Given the description of an element on the screen output the (x, y) to click on. 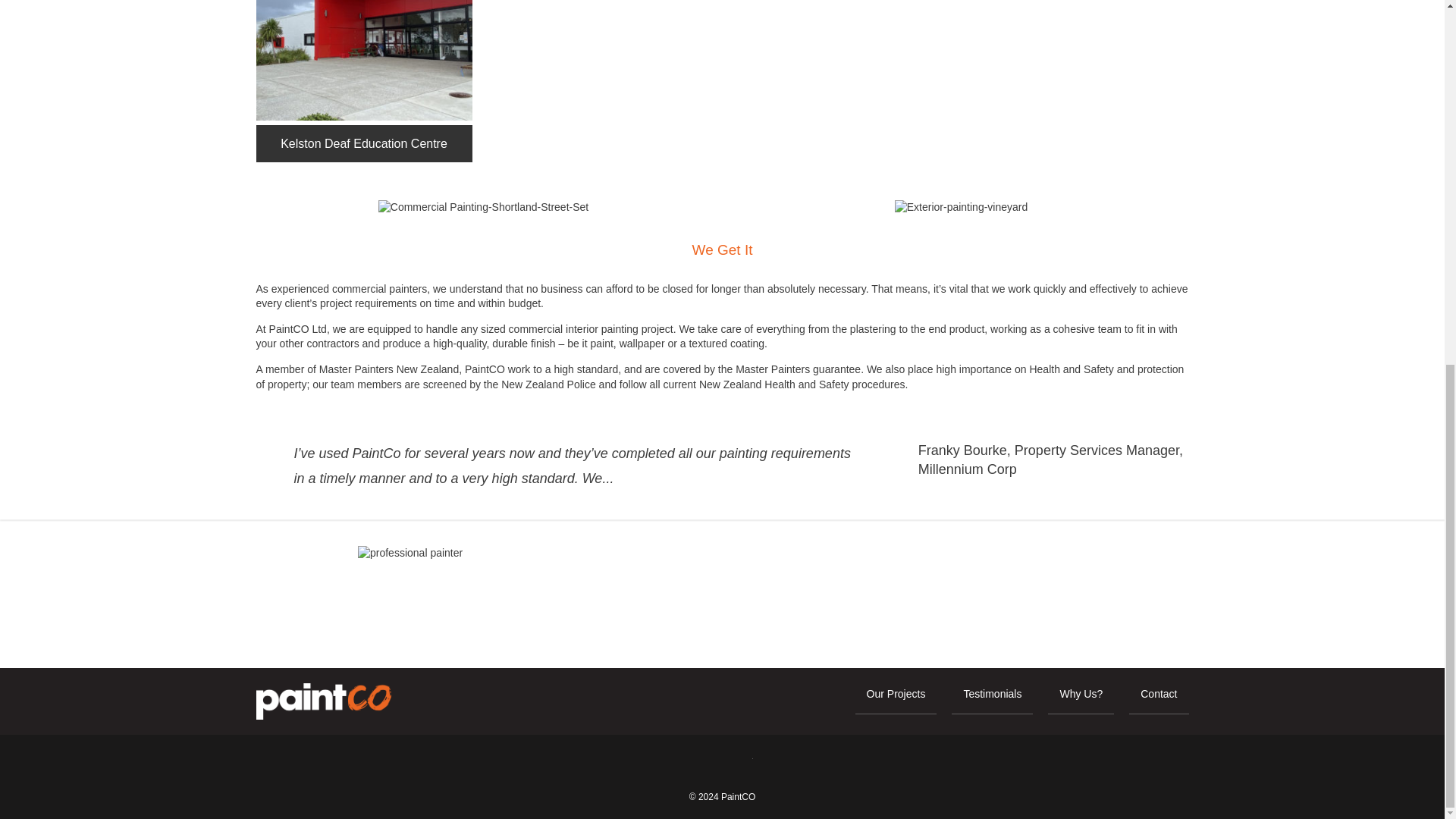
Facebook (704, 763)
Our Projects (896, 700)
Kelston Deaf Education Centre (363, 60)
Testimonials (992, 700)
PaintCO (737, 796)
PaintCO (323, 701)
Kelston Deaf Education Centre (363, 81)
Contact (1158, 700)
Painting-the-Shortland-Street-Set (483, 207)
ArchiPro (739, 763)
Why Us? (1080, 700)
Exterior-painting-vineyard (961, 207)
